Given the description of an element on the screen output the (x, y) to click on. 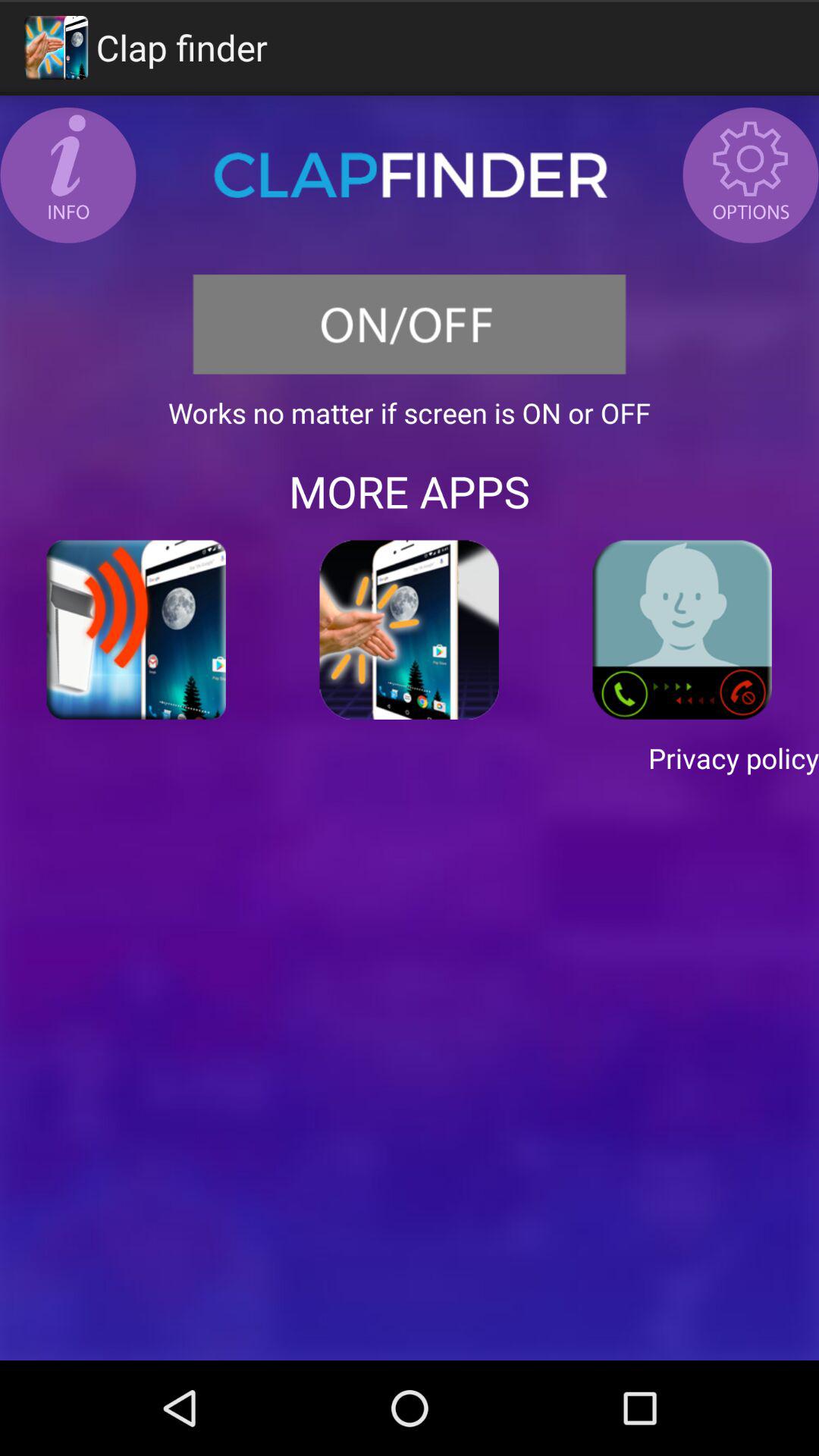
use phone (682, 629)
